Given the description of an element on the screen output the (x, y) to click on. 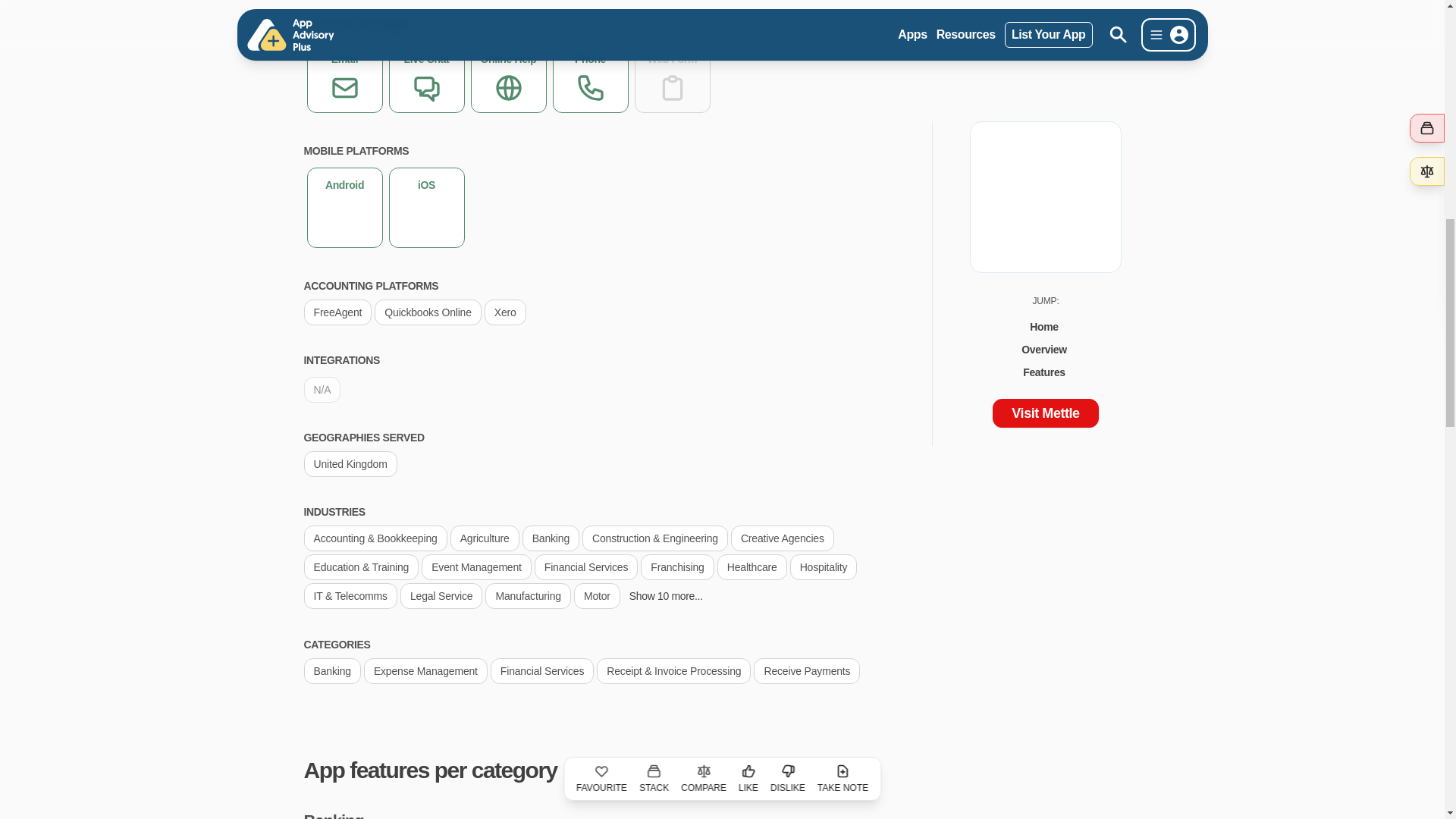
Manufacturing (527, 594)
FreeAgent (336, 311)
Banking (330, 670)
Expense Management (425, 670)
Franchising (676, 566)
Healthcare (752, 566)
Legal Service (441, 594)
Agriculture (484, 537)
Financial Services (585, 566)
Xero (504, 311)
